Given the description of an element on the screen output the (x, y) to click on. 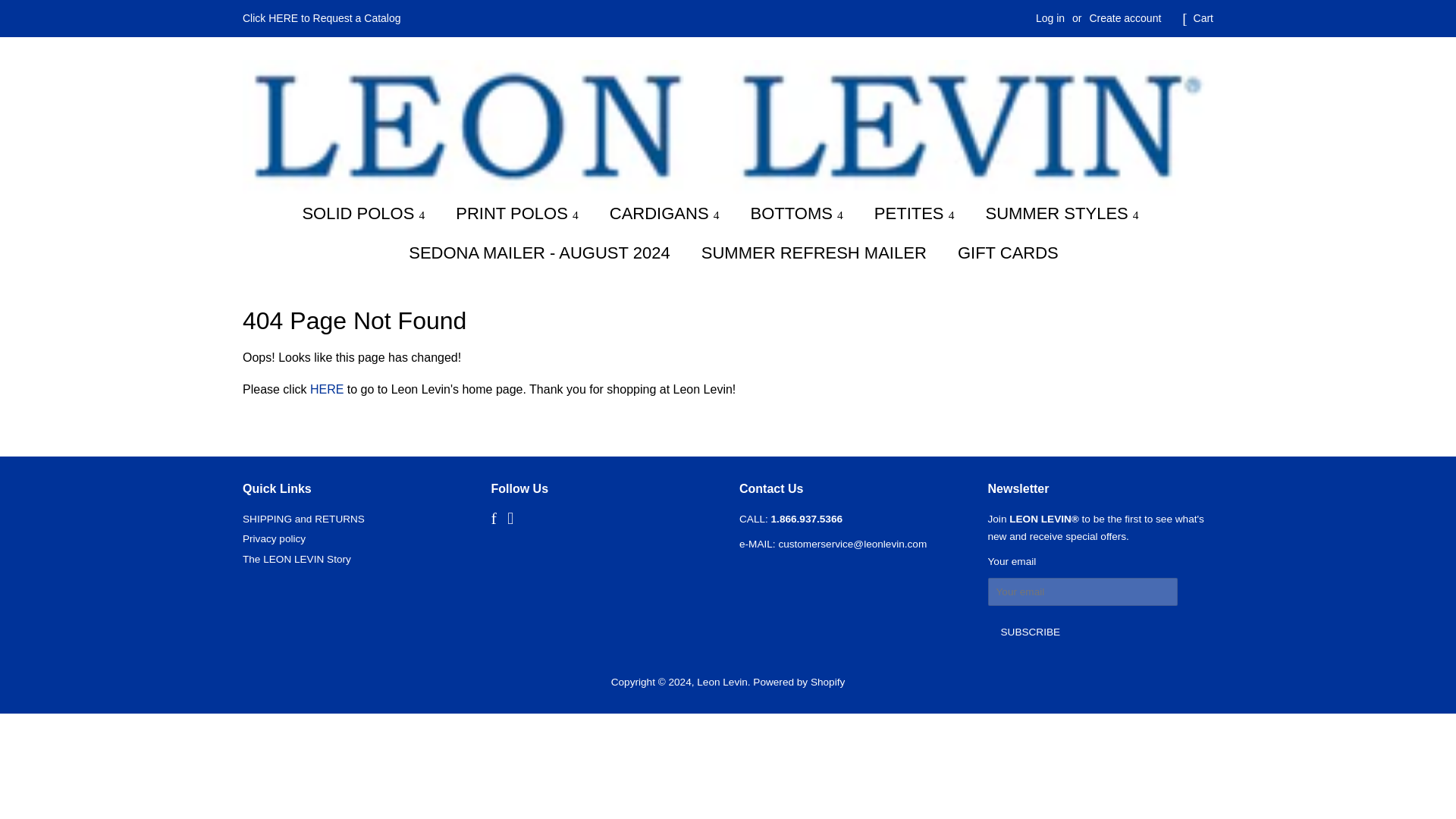
Create account (1124, 18)
Subscribe to Newsletter (1011, 561)
Log in (1049, 18)
Cart (1202, 18)
Subscribe (1030, 633)
Click HERE to Request a Catalog (322, 18)
